Given the description of an element on the screen output the (x, y) to click on. 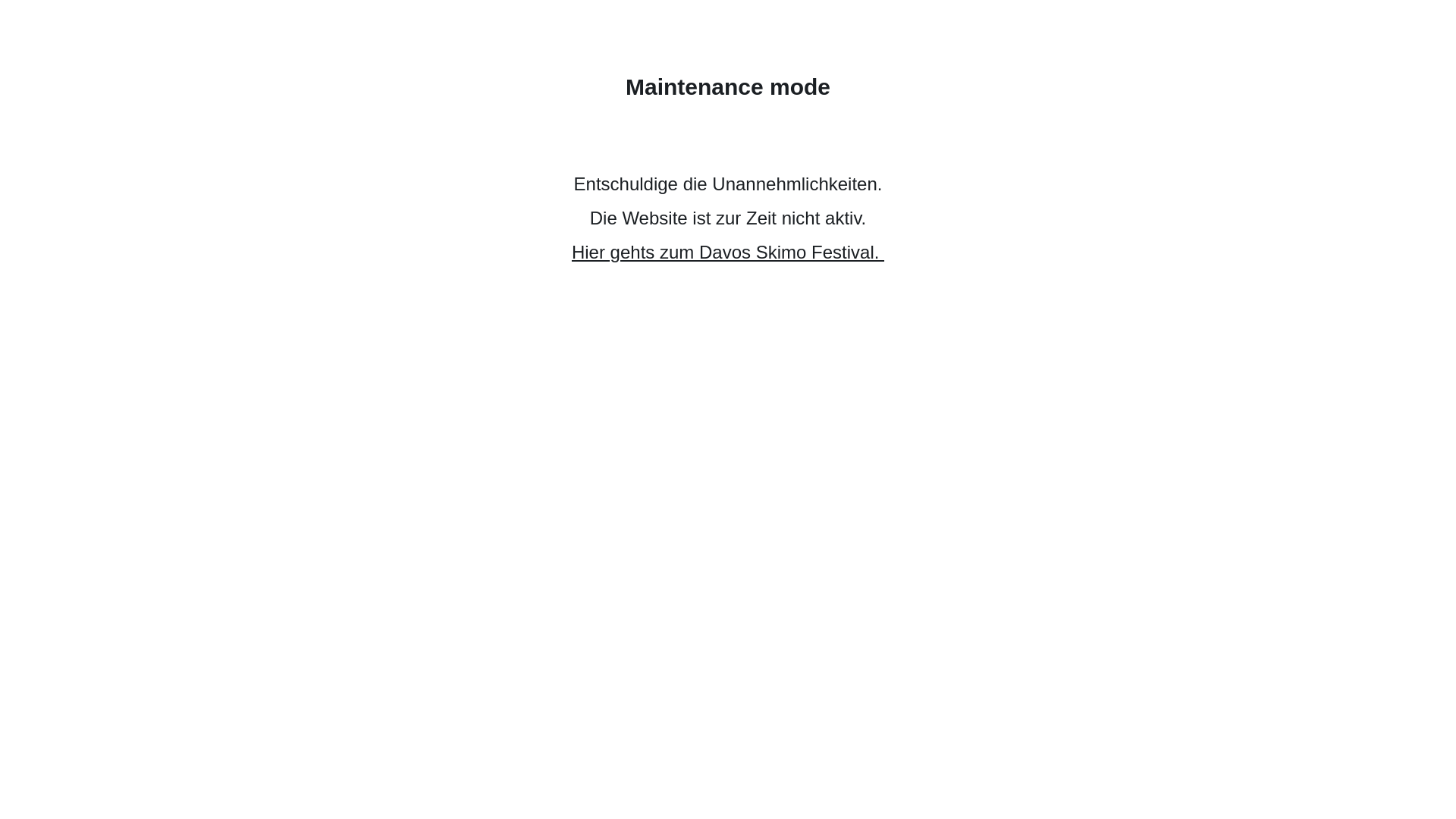
Hier gehts zum Davos Skimo Festival.  Element type: text (727, 251)
